Given the description of an element on the screen output the (x, y) to click on. 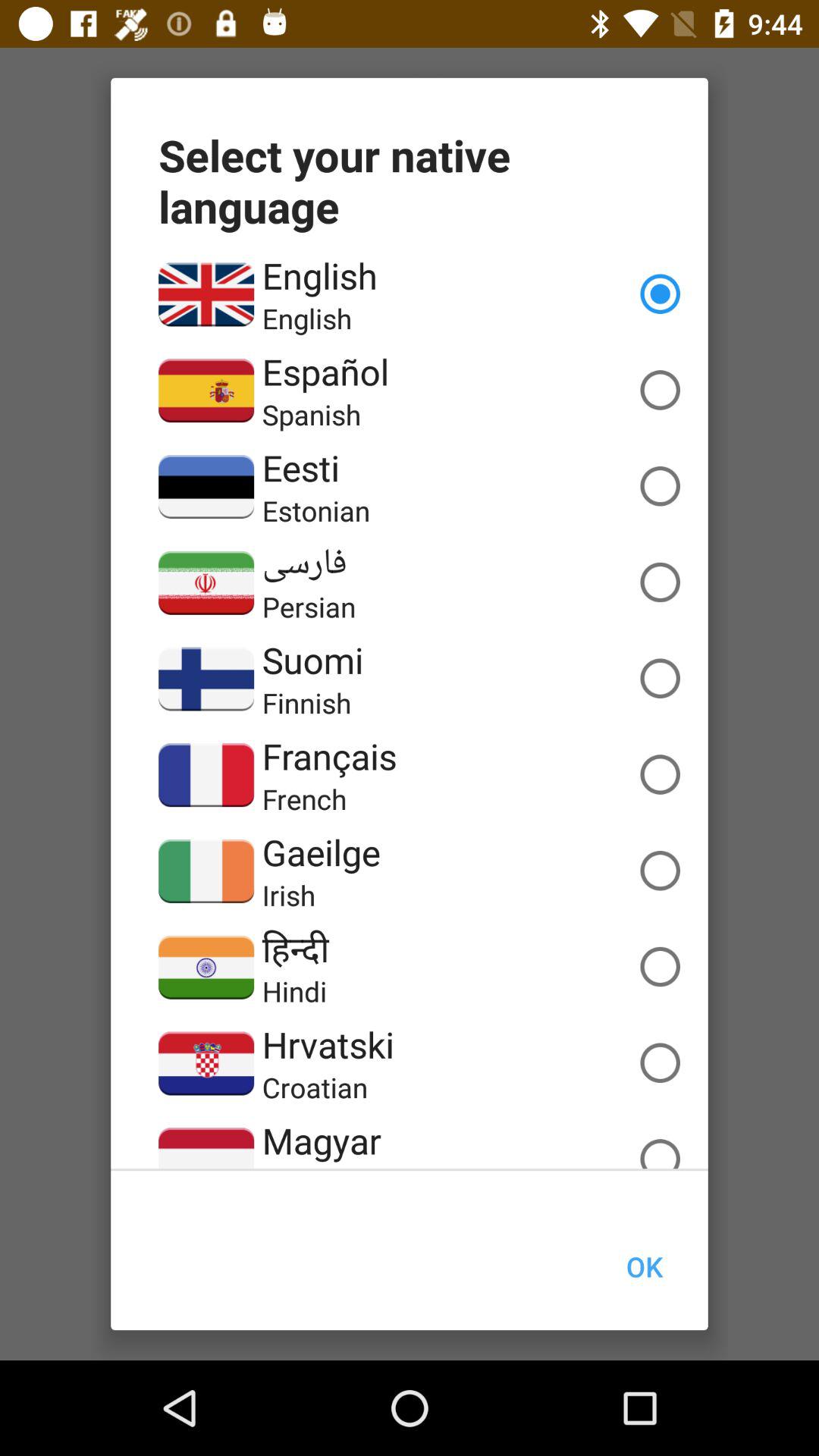
press app above french icon (329, 755)
